Given the description of an element on the screen output the (x, y) to click on. 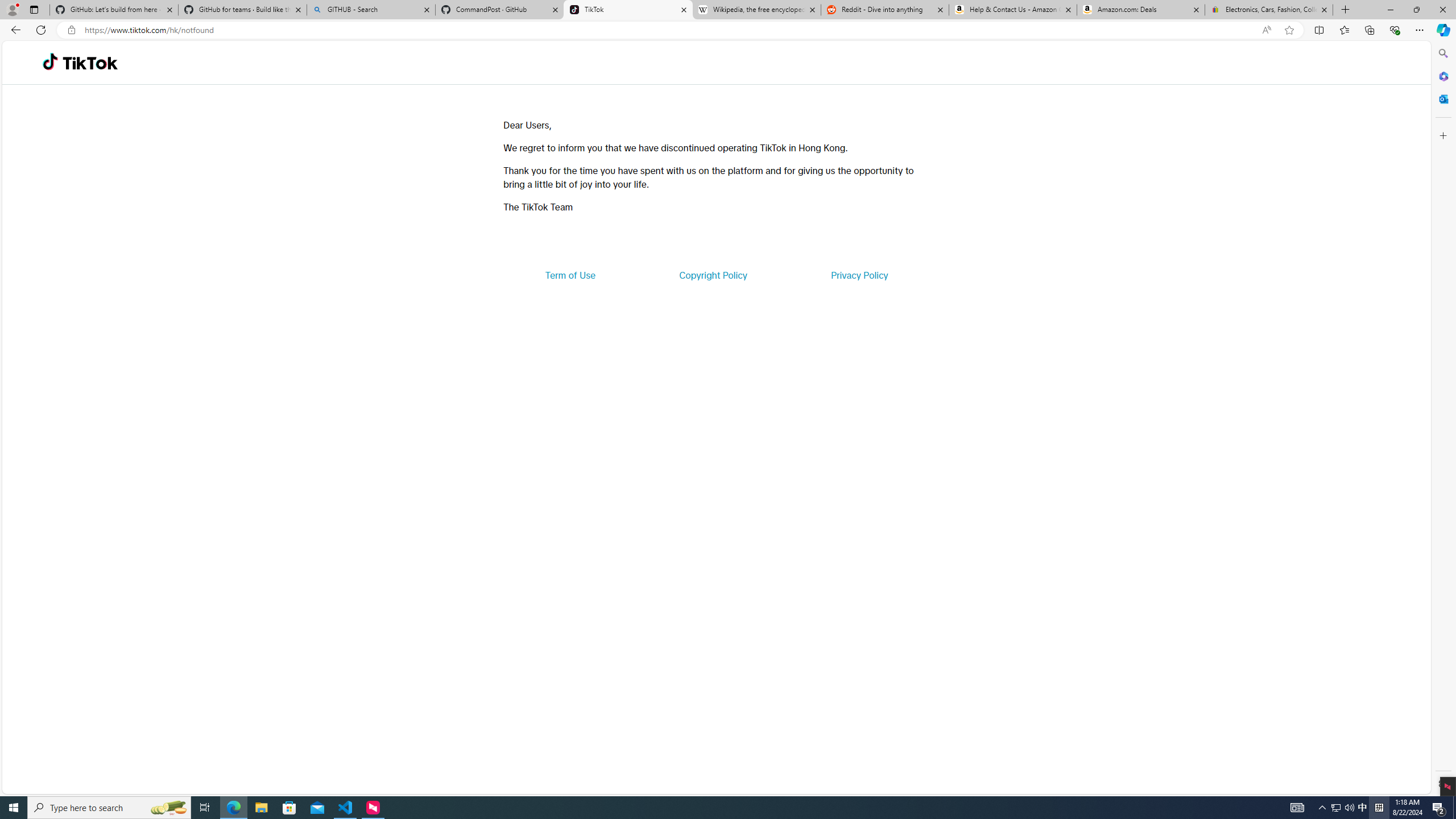
View site information (70, 29)
Split screen (1318, 29)
Side bar (1443, 418)
Amazon.com: Deals (1140, 9)
Favorites (1344, 29)
Copyright Policy (712, 274)
Refresh (40, 29)
New Tab (1346, 9)
Browser essentials (1394, 29)
Copilot (Ctrl+Shift+.) (1442, 29)
Reddit - Dive into anything (884, 9)
Wikipedia, the free encyclopedia (756, 9)
Close tab (1324, 9)
Minimize (1390, 9)
